Given the description of an element on the screen output the (x, y) to click on. 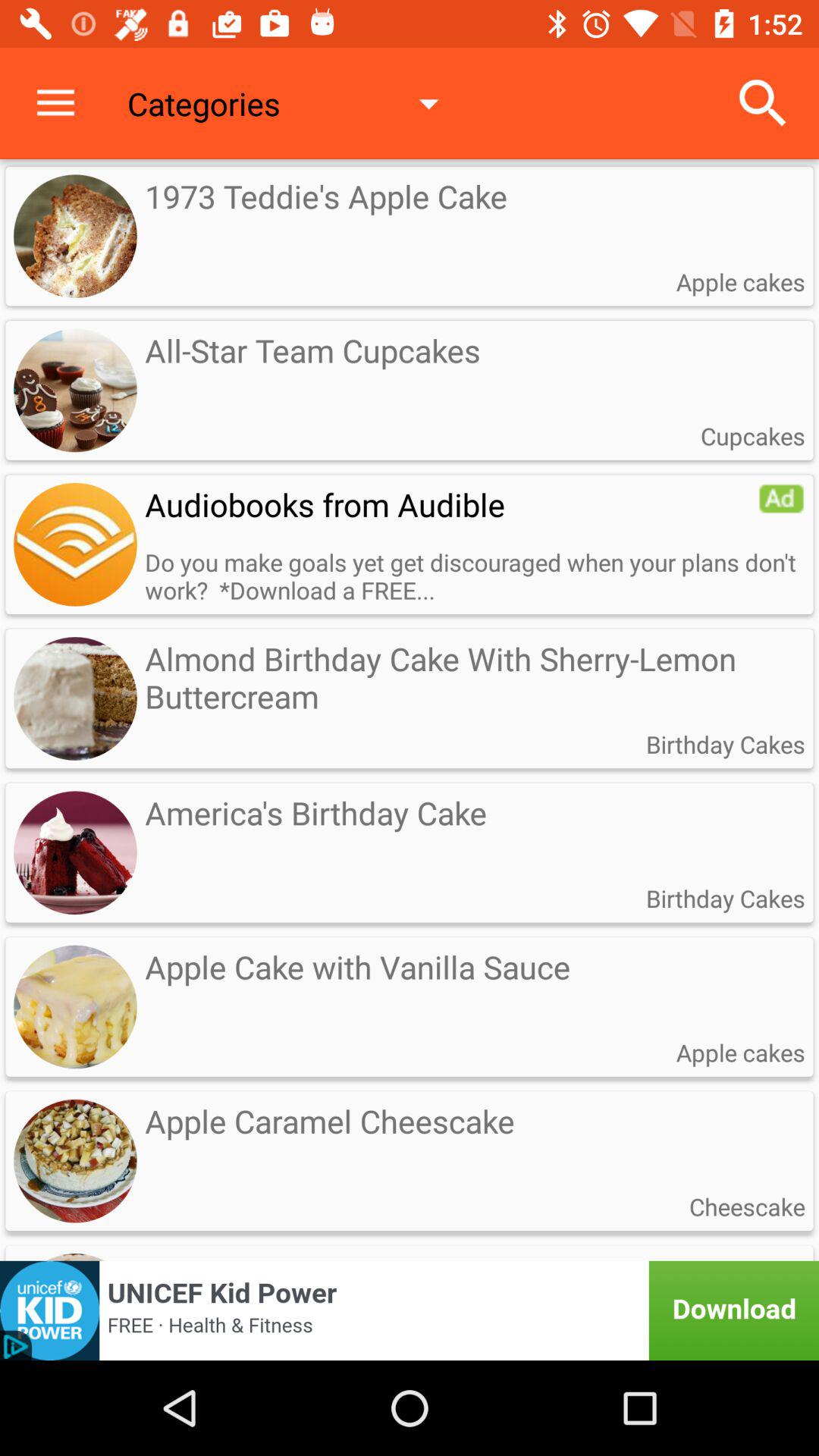
turn off the icon below audiobooks from audible icon (475, 576)
